Given the description of an element on the screen output the (x, y) to click on. 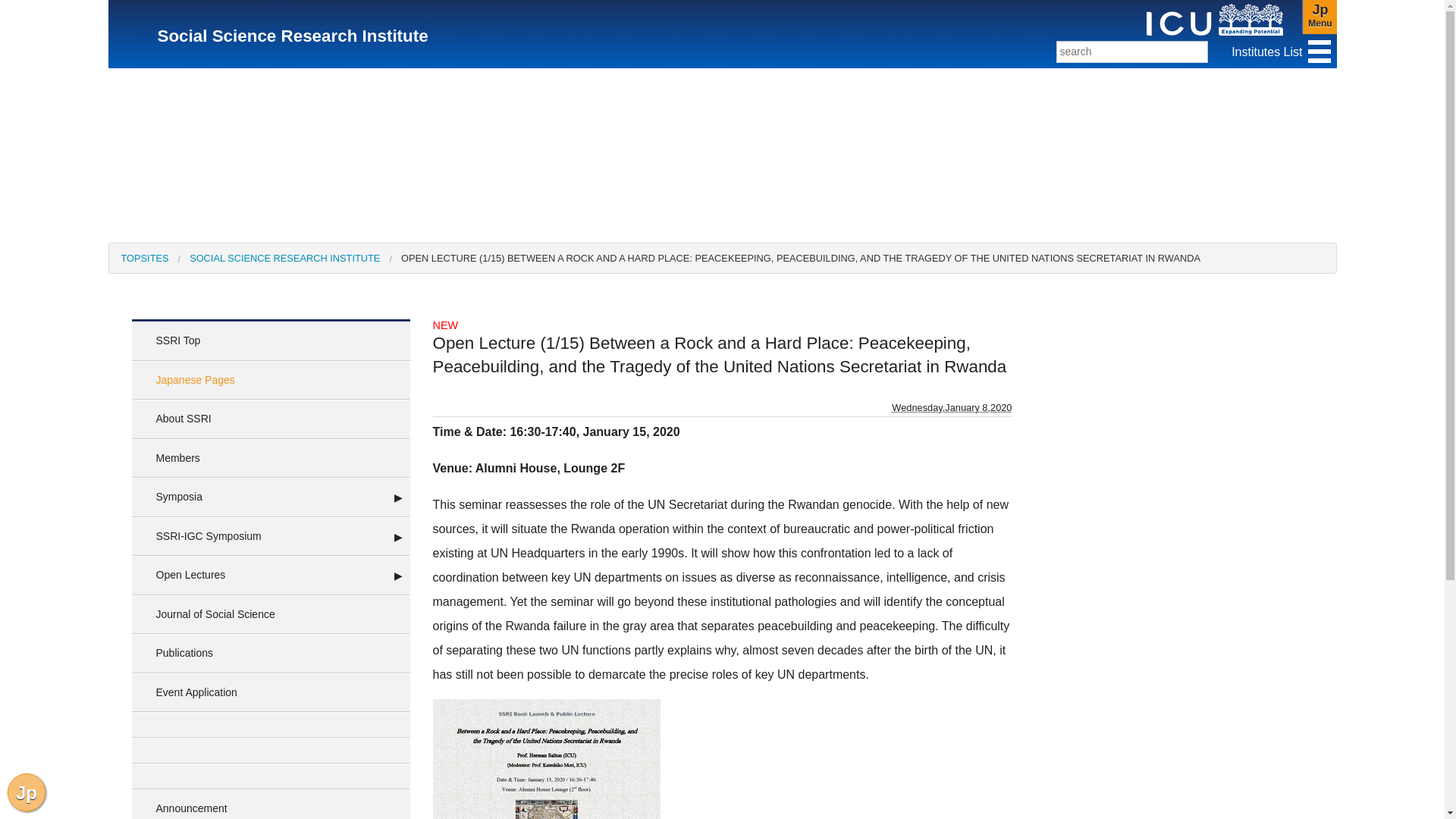
Social Science Research Institute (292, 35)
January  8, 2020 11:30 AM (1319, 17)
